Given the description of an element on the screen output the (x, y) to click on. 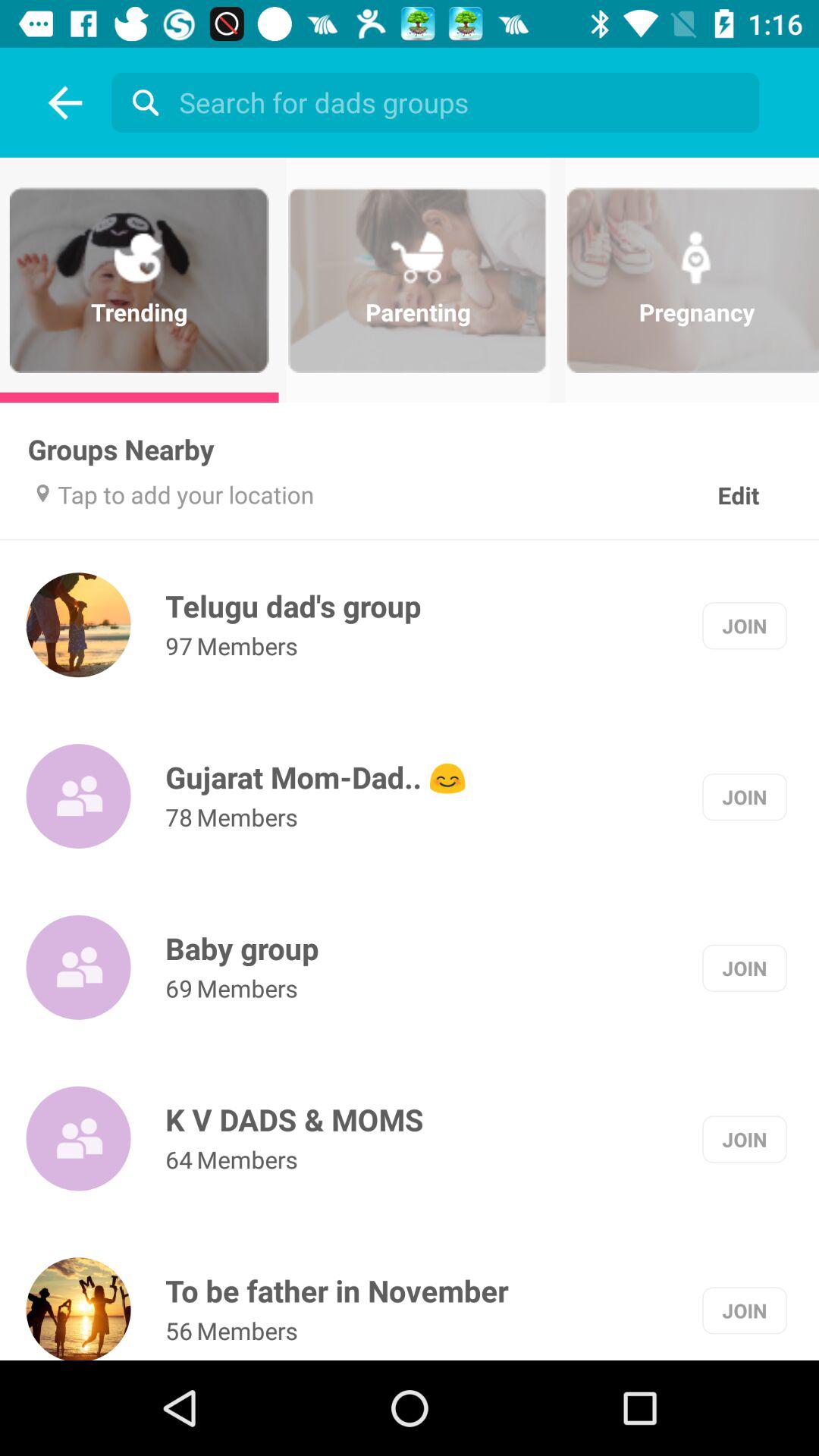
select the item next to members (178, 1330)
